Given the description of an element on the screen output the (x, y) to click on. 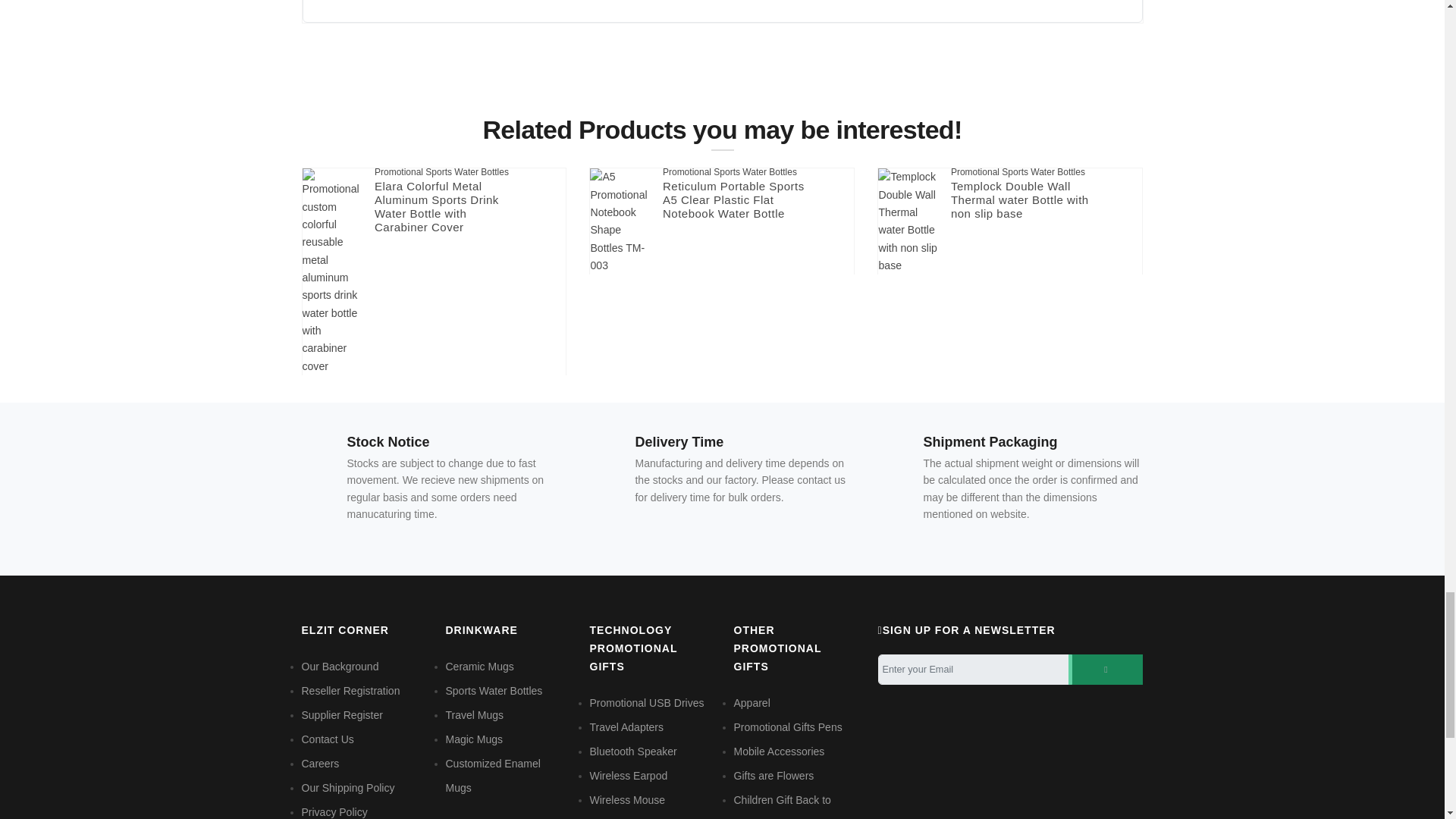
Templock Double Wall Thermal water Bottle with non slip base (908, 221)
A5 Promotional  Notebook Shape Bottles TM-003 (619, 221)
